Given the description of an element on the screen output the (x, y) to click on. 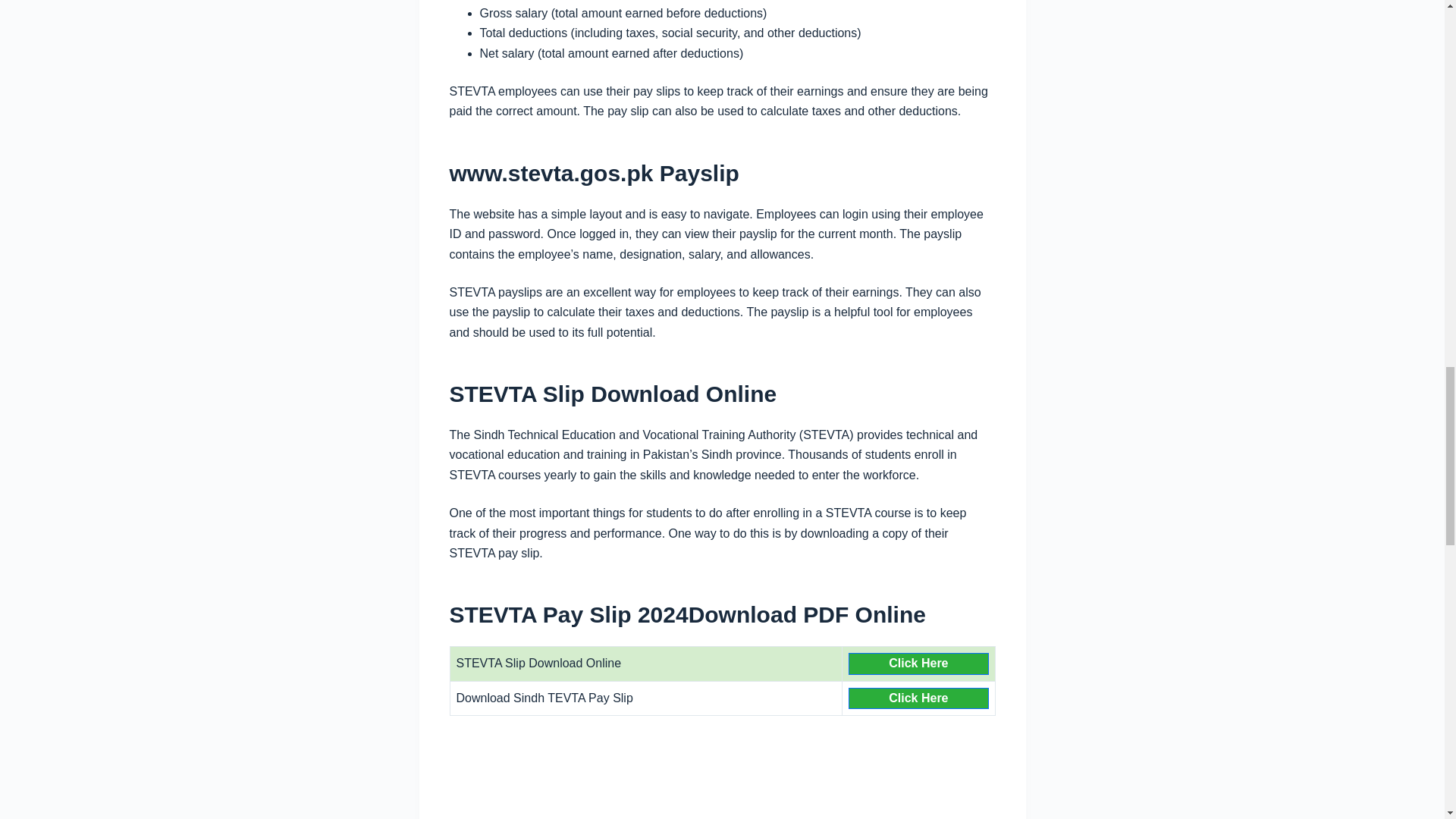
Click Here (918, 698)
Click Here (918, 663)
